Given the description of an element on the screen output the (x, y) to click on. 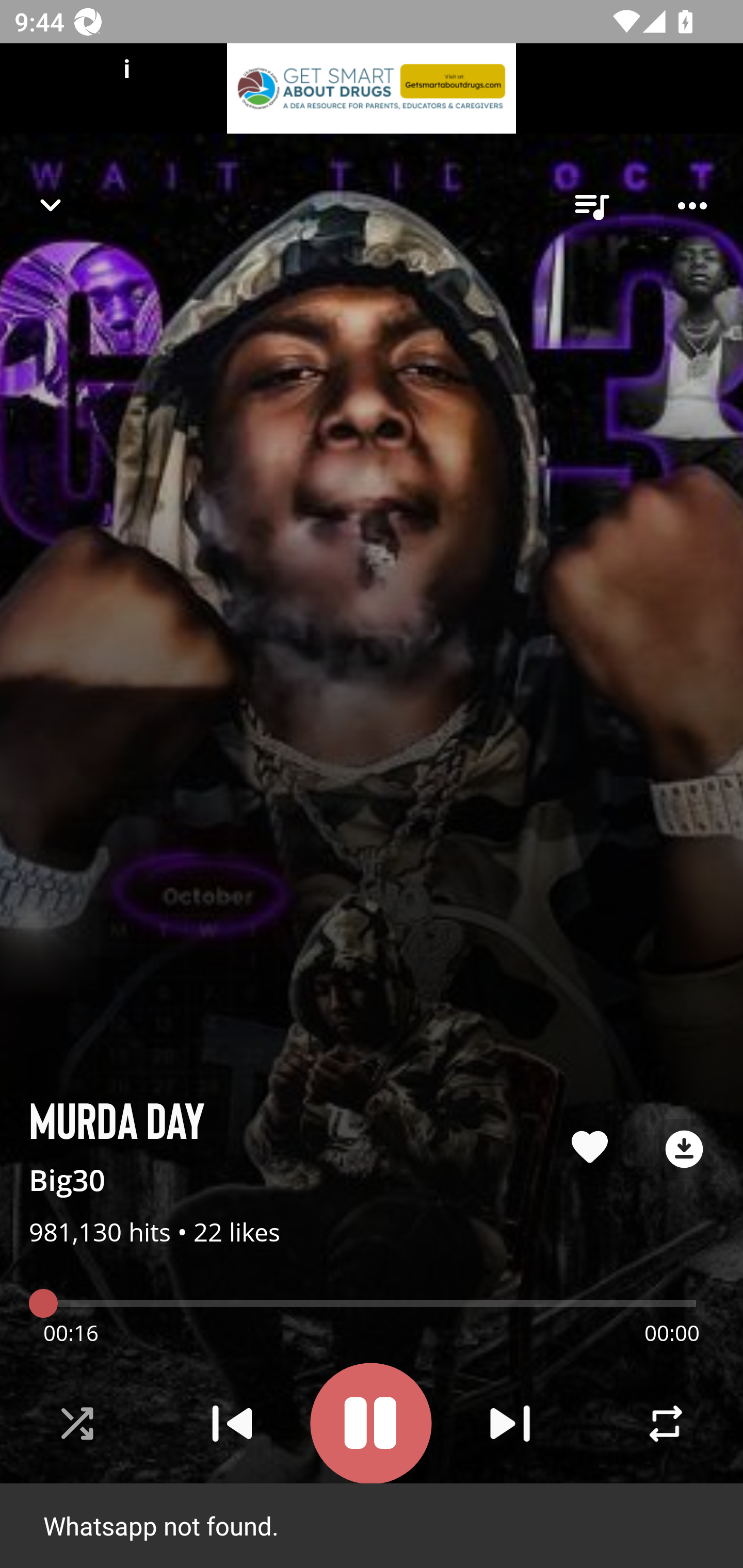
Navigate up (50, 205)
queue (590, 206)
Player options (692, 206)
